Given the description of an element on the screen output the (x, y) to click on. 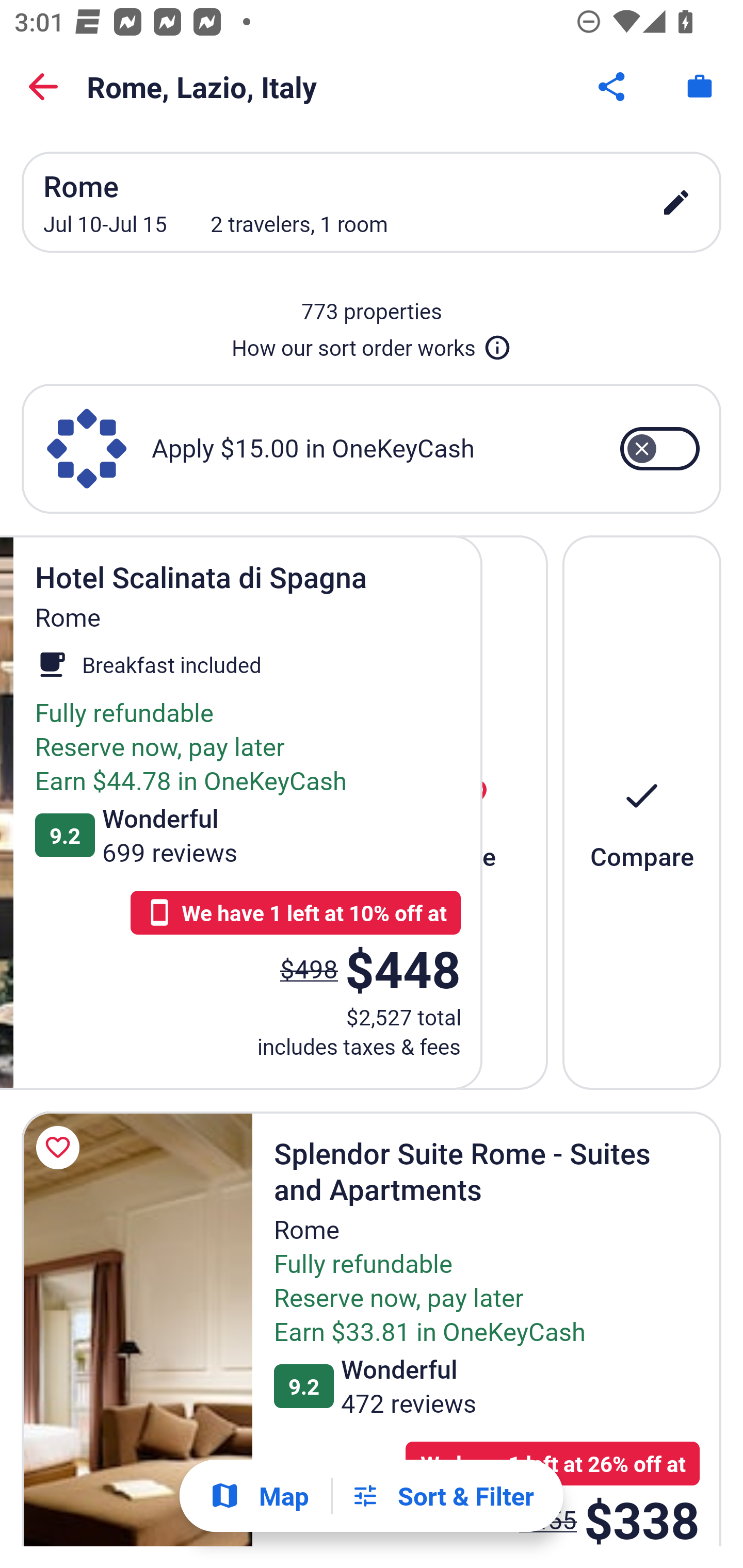
Back (43, 86)
Share Button (612, 86)
Trips. Button (699, 86)
Rome Jul 10-Jul 15 2 travelers, 1 room edit (371, 202)
How our sort order works (371, 344)
Compare (641, 811)
$498 The price was $498 (308, 968)
Splendor Suite Rome - Suites and Apartments  (136, 1328)
Filters Sort & Filter Filters Button (442, 1495)
Show map Map Show map Button (258, 1495)
